Given the description of an element on the screen output the (x, y) to click on. 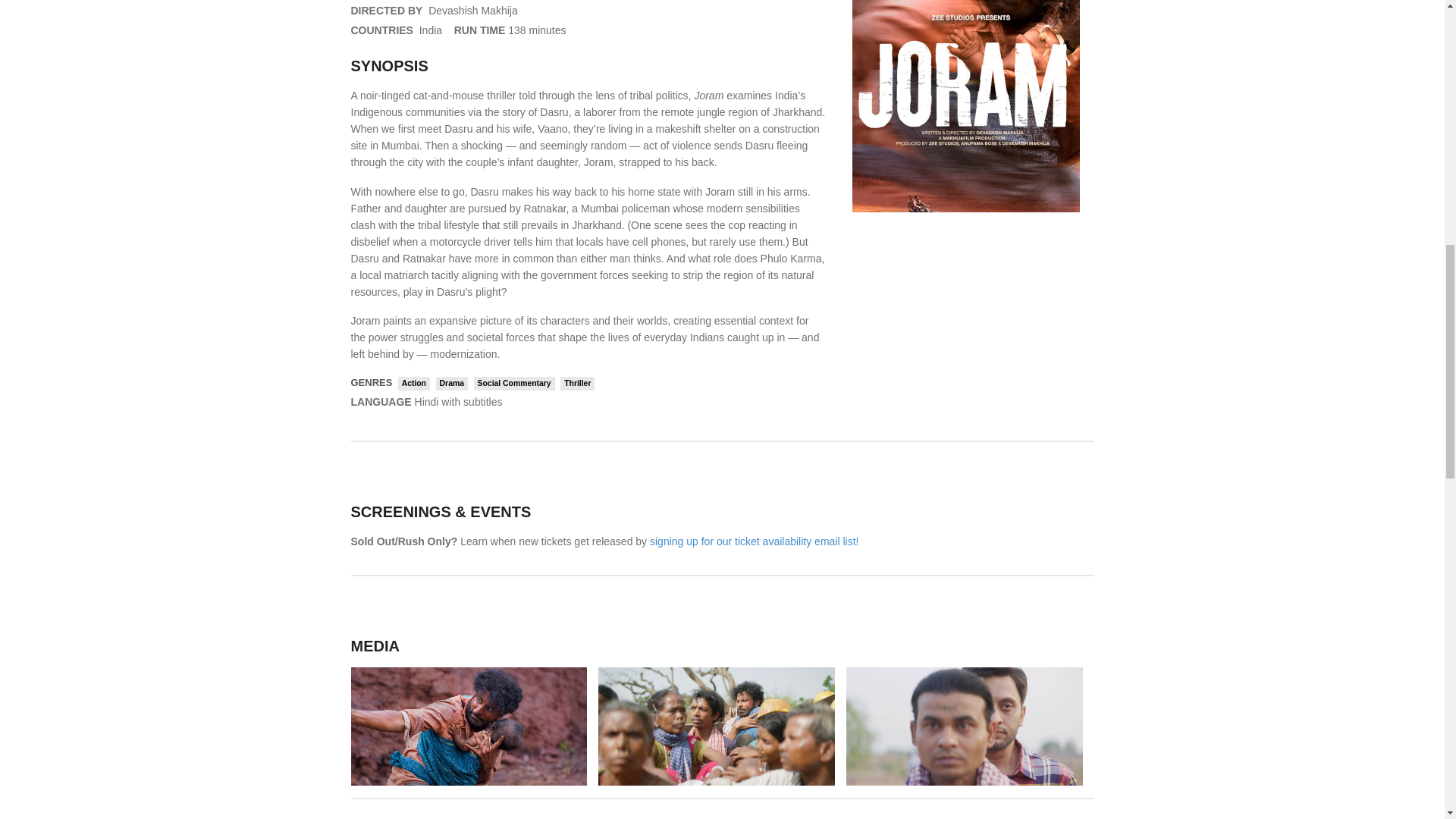
Drama (451, 383)
Action (413, 383)
Social Commentary (514, 383)
